Given the description of an element on the screen output the (x, y) to click on. 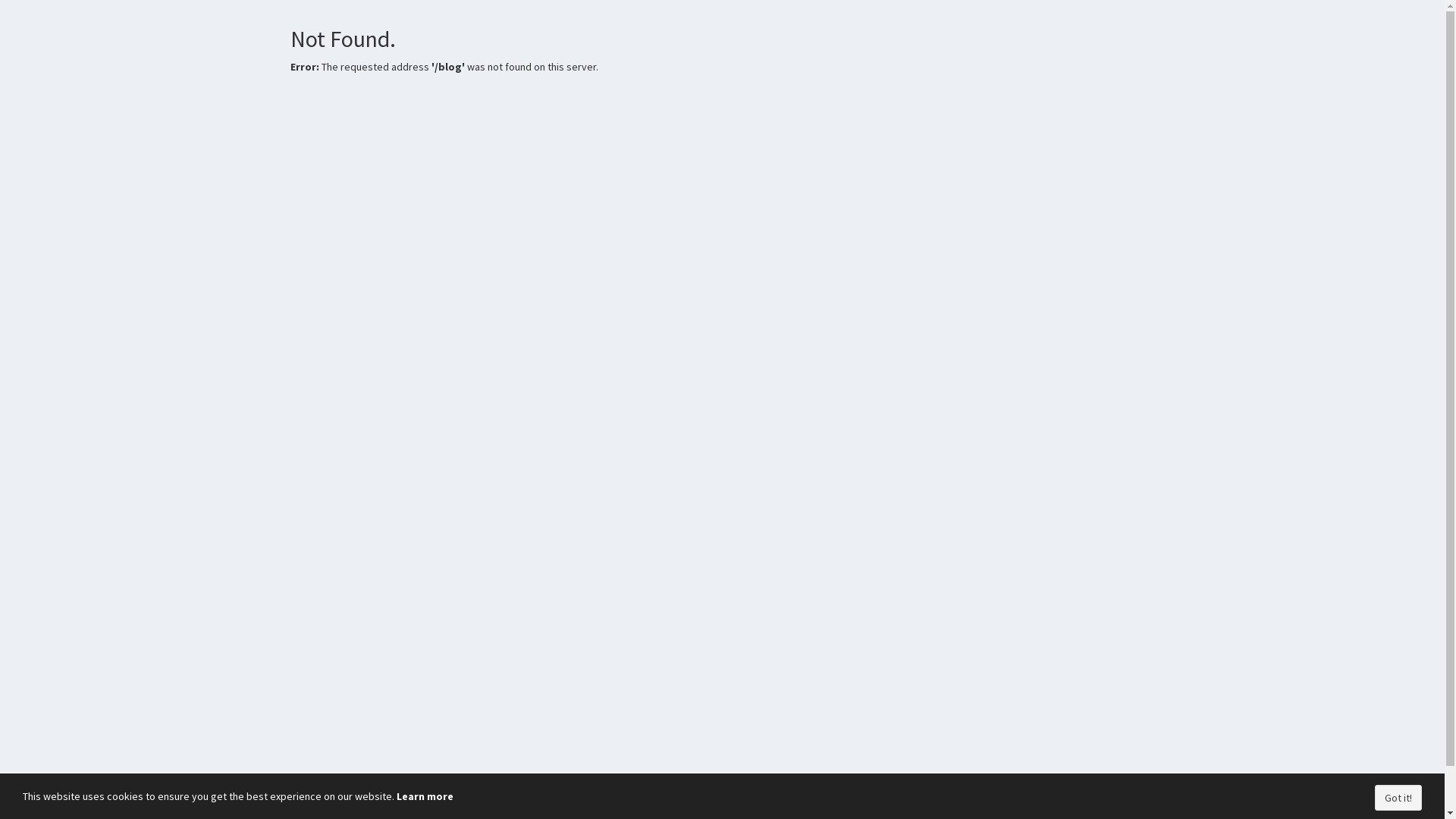
Learn more Element type: text (424, 796)
Got it! Element type: text (1397, 797)
